Given the description of an element on the screen output the (x, y) to click on. 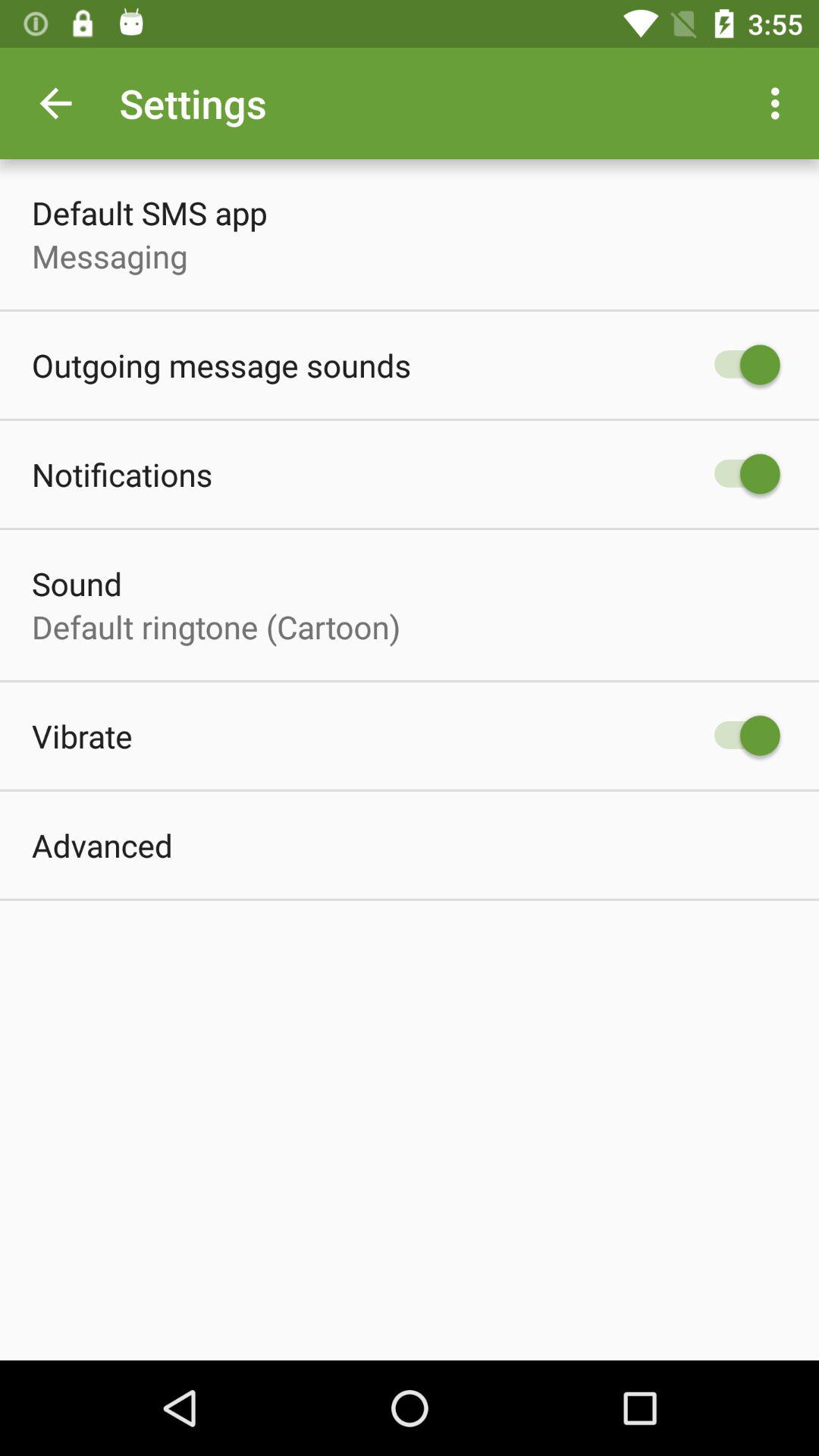
flip to messaging item (109, 255)
